Given the description of an element on the screen output the (x, y) to click on. 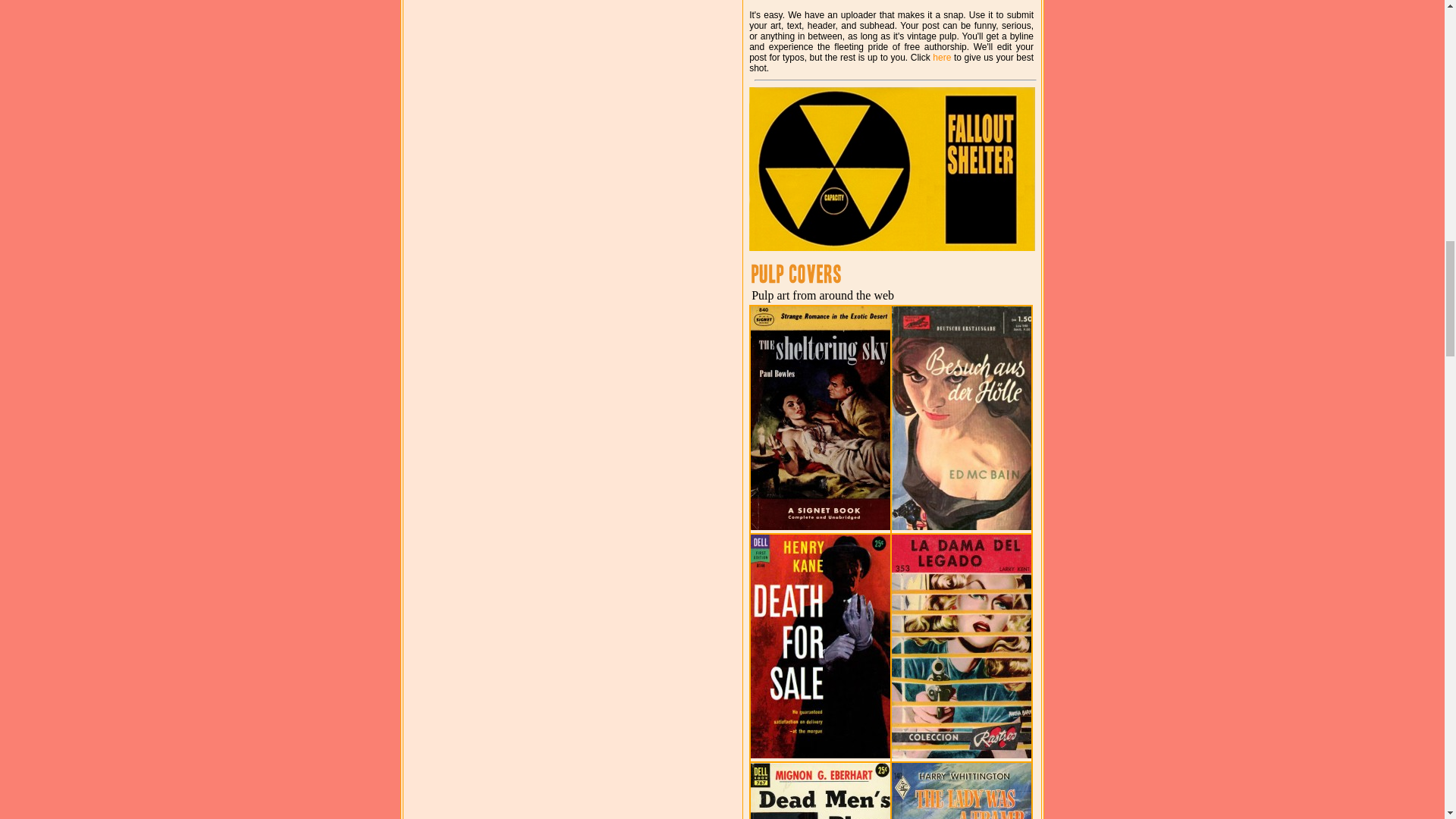
here (941, 57)
